Given the description of an element on the screen output the (x, y) to click on. 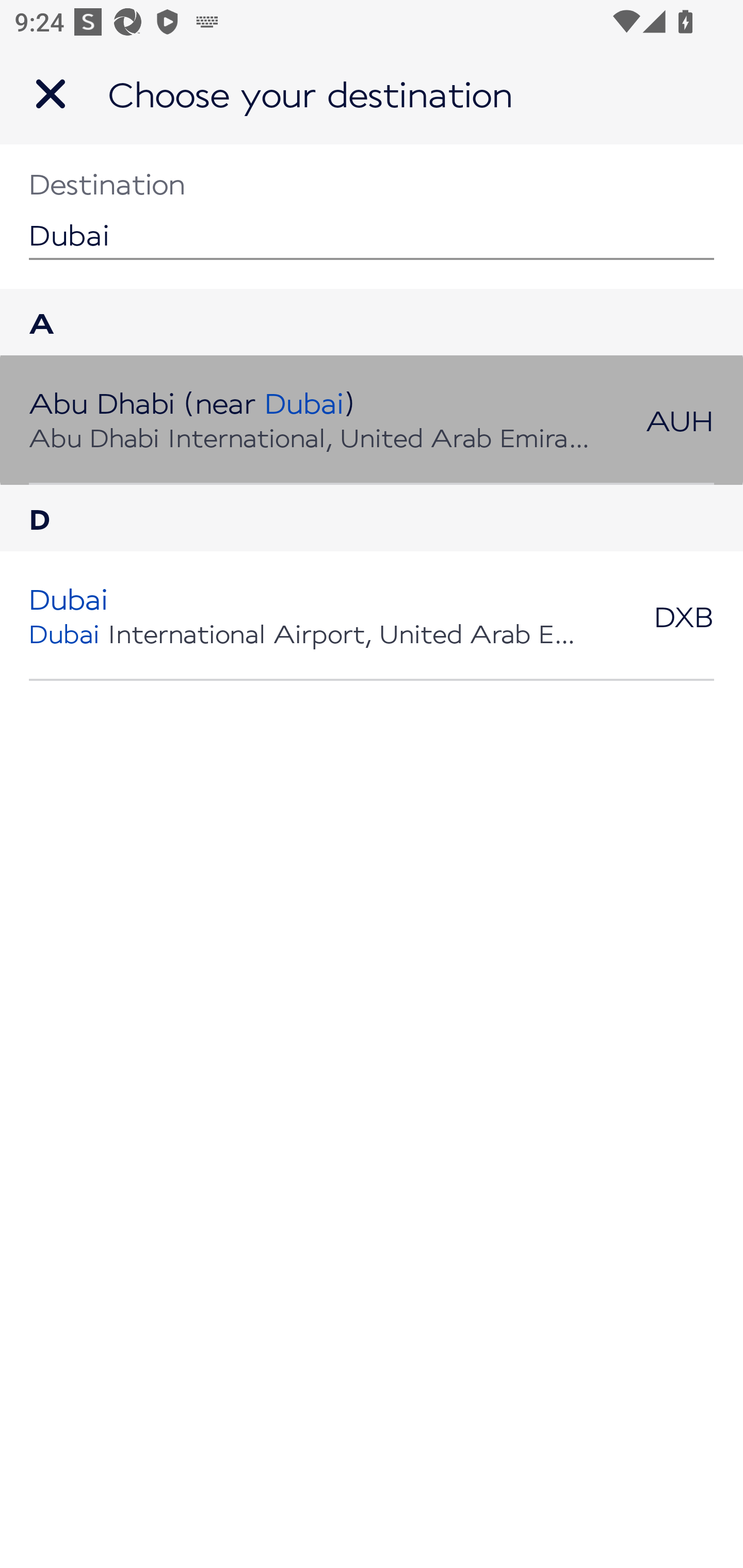
Navigate up (50, 93)
Dubai (371, 216)
